Given the description of an element on the screen output the (x, y) to click on. 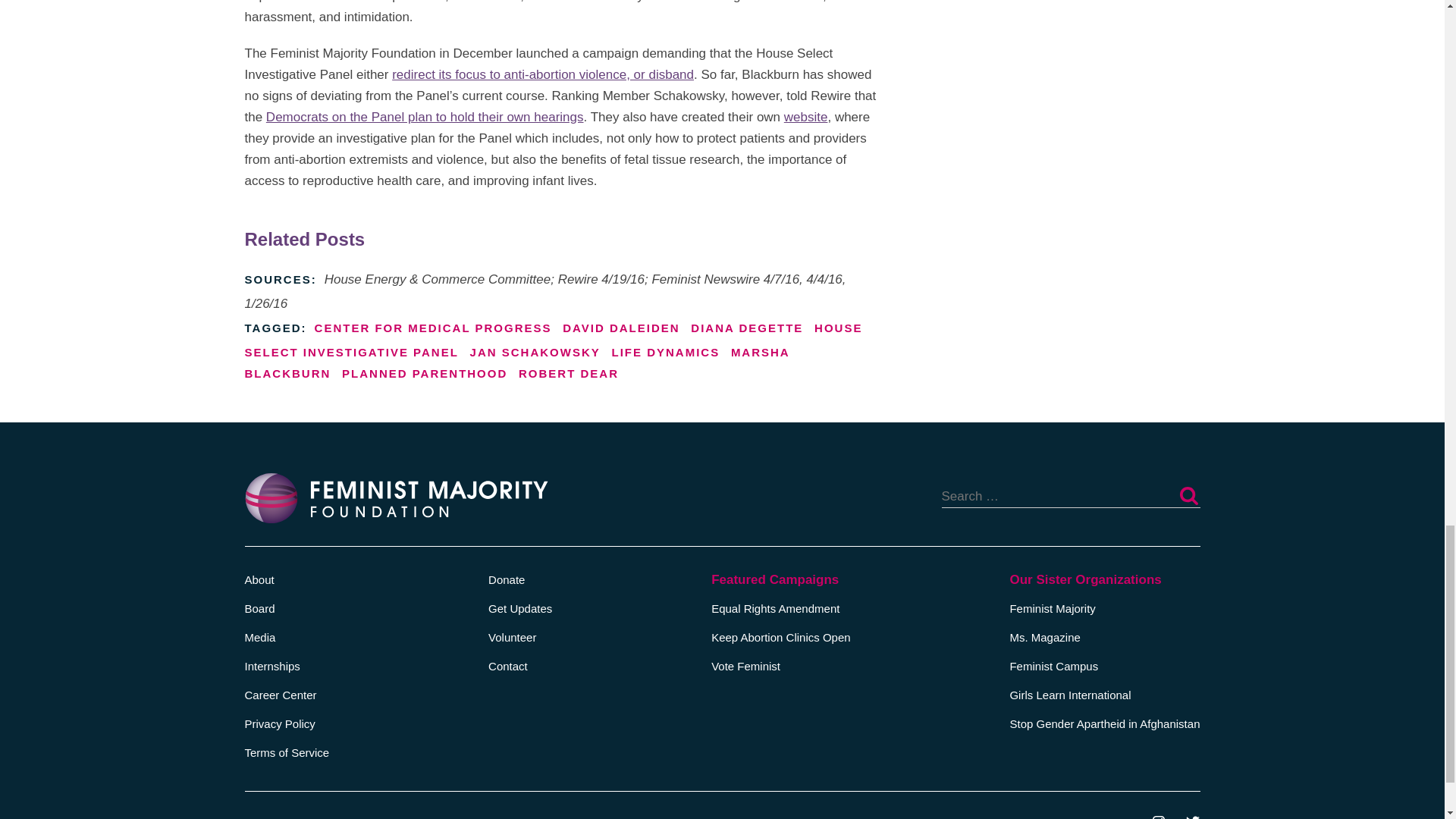
Search (1187, 495)
Search (1187, 495)
redirect its focus to anti-abortion violence, or disband (542, 74)
Democrats on the Panel plan to hold their own hearings (424, 116)
website (806, 116)
